Given the description of an element on the screen output the (x, y) to click on. 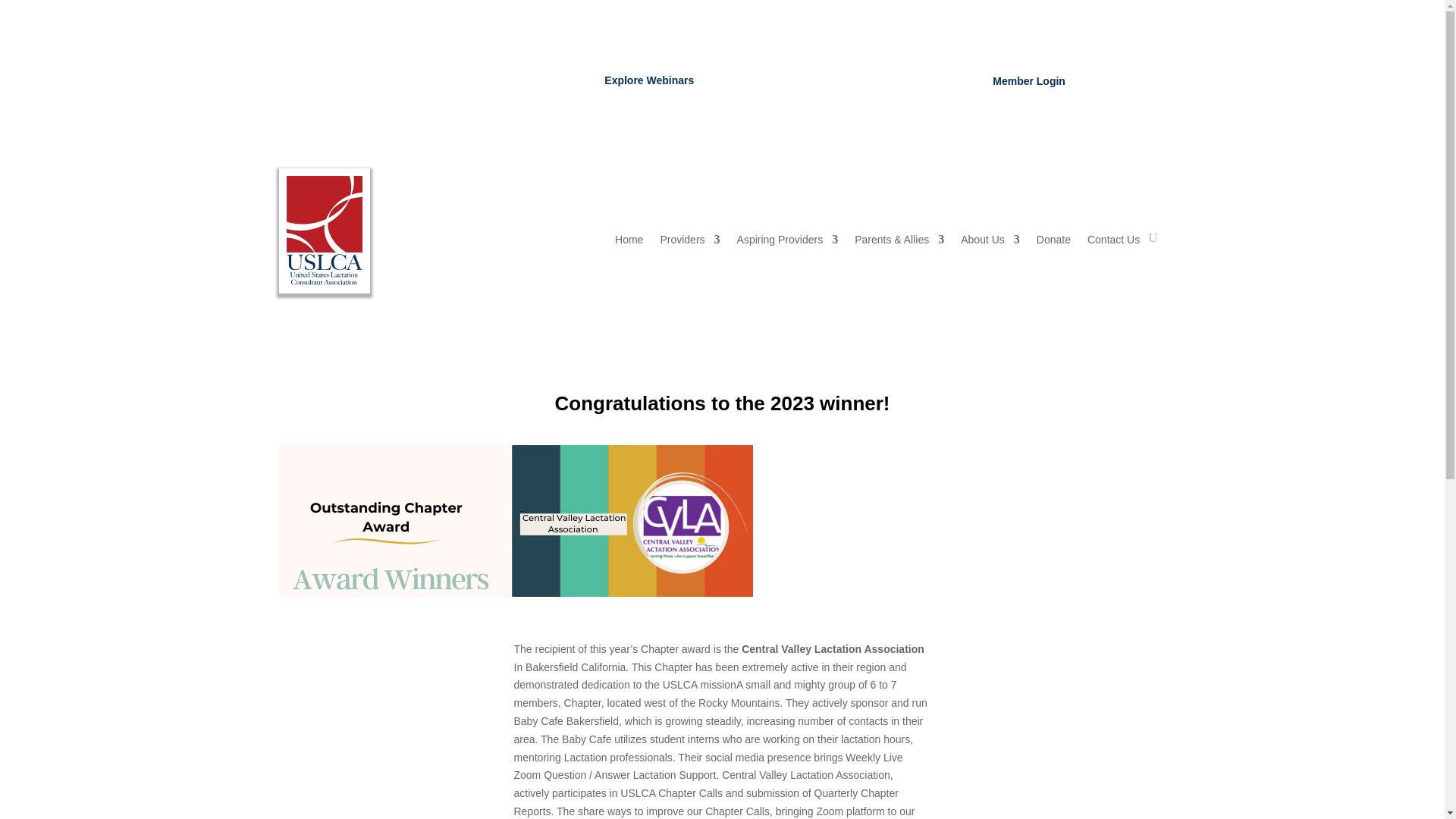
Follow on X (823, 78)
Home (628, 242)
Follow on Instagram (884, 78)
uslca-vertical-rs-2 (324, 232)
Follow on Facebook (793, 78)
Member Login (1028, 81)
Explore Webinars (648, 81)
Aspiring Providers (787, 242)
Follow on LinkedIn (854, 78)
About Us (990, 242)
Providers (689, 242)
